Given the description of an element on the screen output the (x, y) to click on. 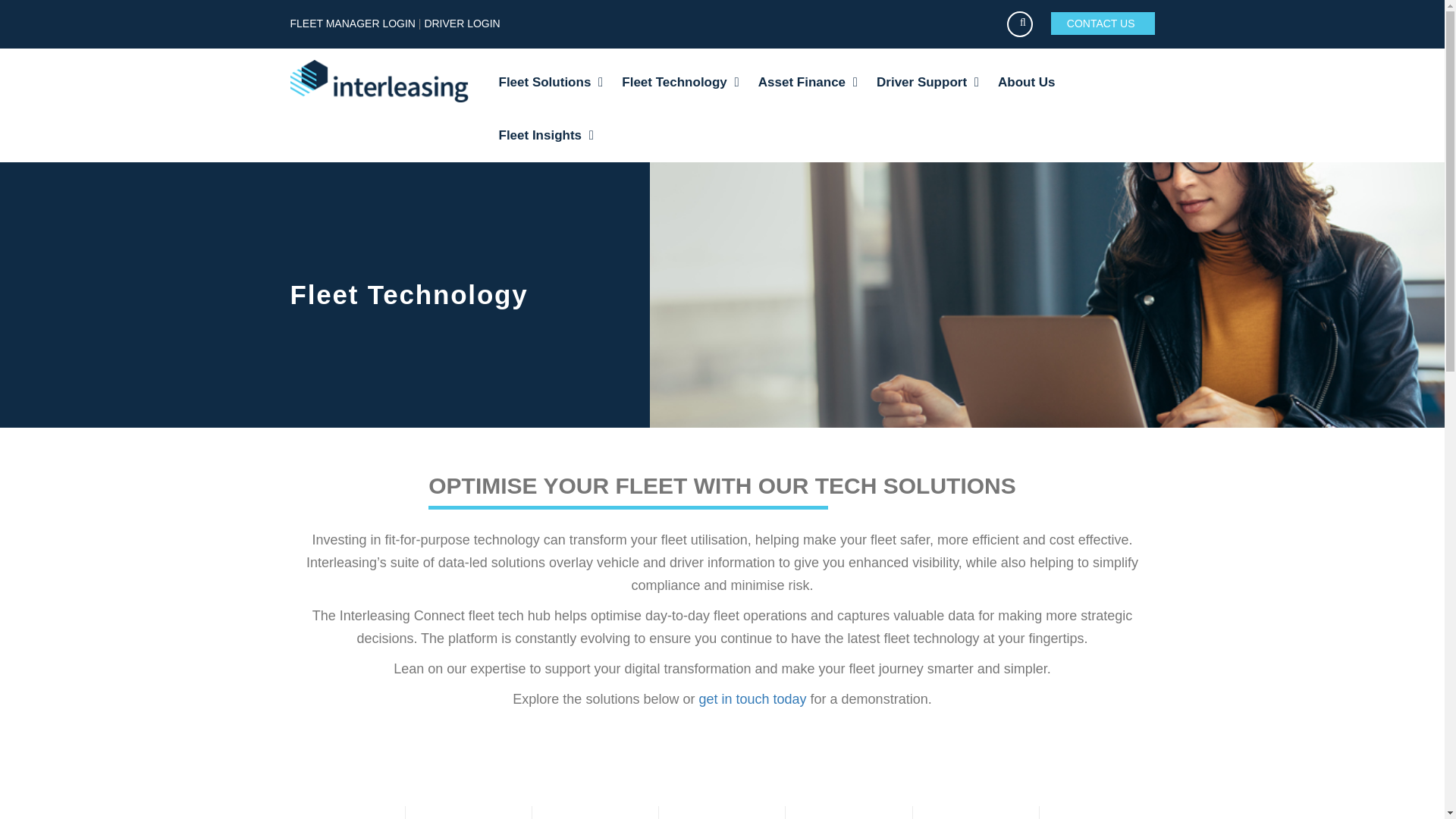
DRIVER LOGIN (461, 23)
Fleet Solutions (551, 82)
Fleet Insights (546, 135)
Asset Finance (807, 82)
get in touch today (752, 698)
Driver Support (927, 82)
CONTACT US (1102, 23)
Fleet Technology (679, 82)
About Us (1026, 82)
